Given the description of an element on the screen output the (x, y) to click on. 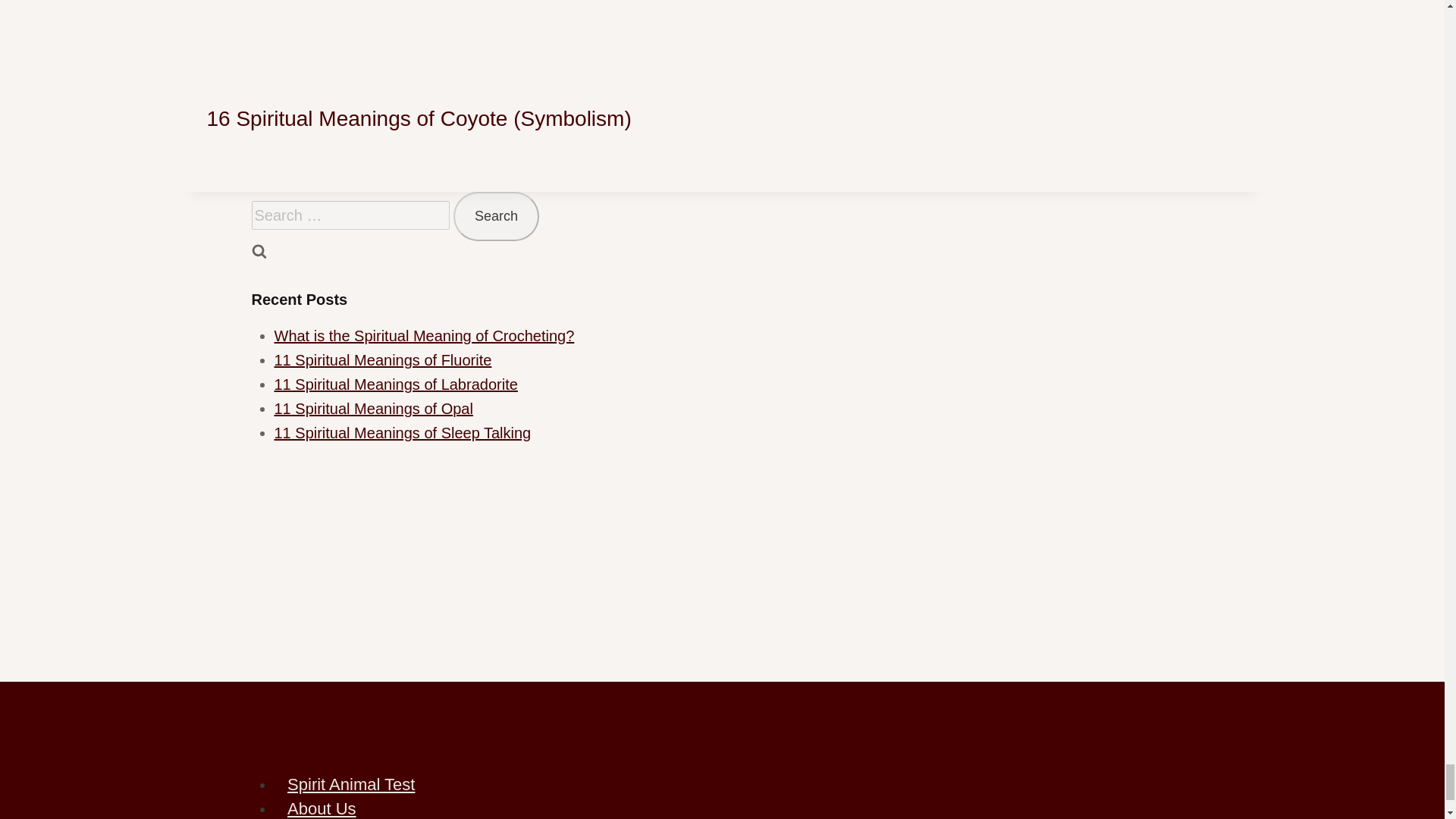
Search (495, 215)
Search (495, 215)
